Given the description of an element on the screen output the (x, y) to click on. 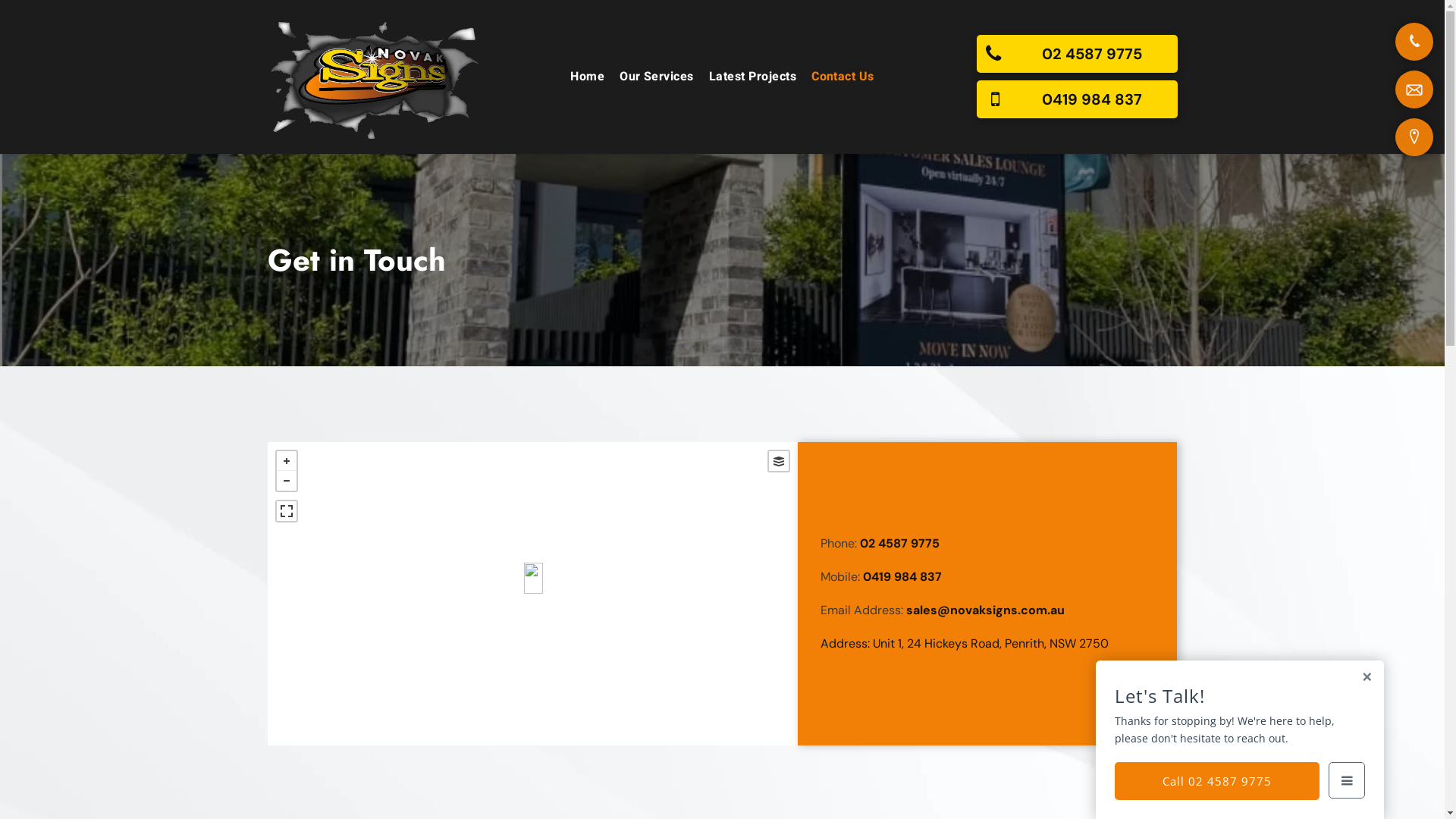
0419 984 837 Element type: text (1076, 99)
- Element type: text (285, 480)
Contact Us Element type: text (842, 76)
Latest Projects Element type: text (752, 76)
sales@novaksigns.com.au Element type: text (985, 610)
0419 984 837 Element type: text (901, 576)
Layers Element type: hover (778, 460)
View Fullscreen Element type: hover (285, 510)
Home Element type: text (586, 76)
+ Element type: text (285, 460)
Our Services Element type: text (656, 76)
Call 02 4587 9775 Element type: text (1216, 781)
Novak Signs Element type: hover (373, 76)
02 4587 9775 Element type: text (1076, 53)
02 4587 9775 Element type: text (899, 543)
